Given the description of an element on the screen output the (x, y) to click on. 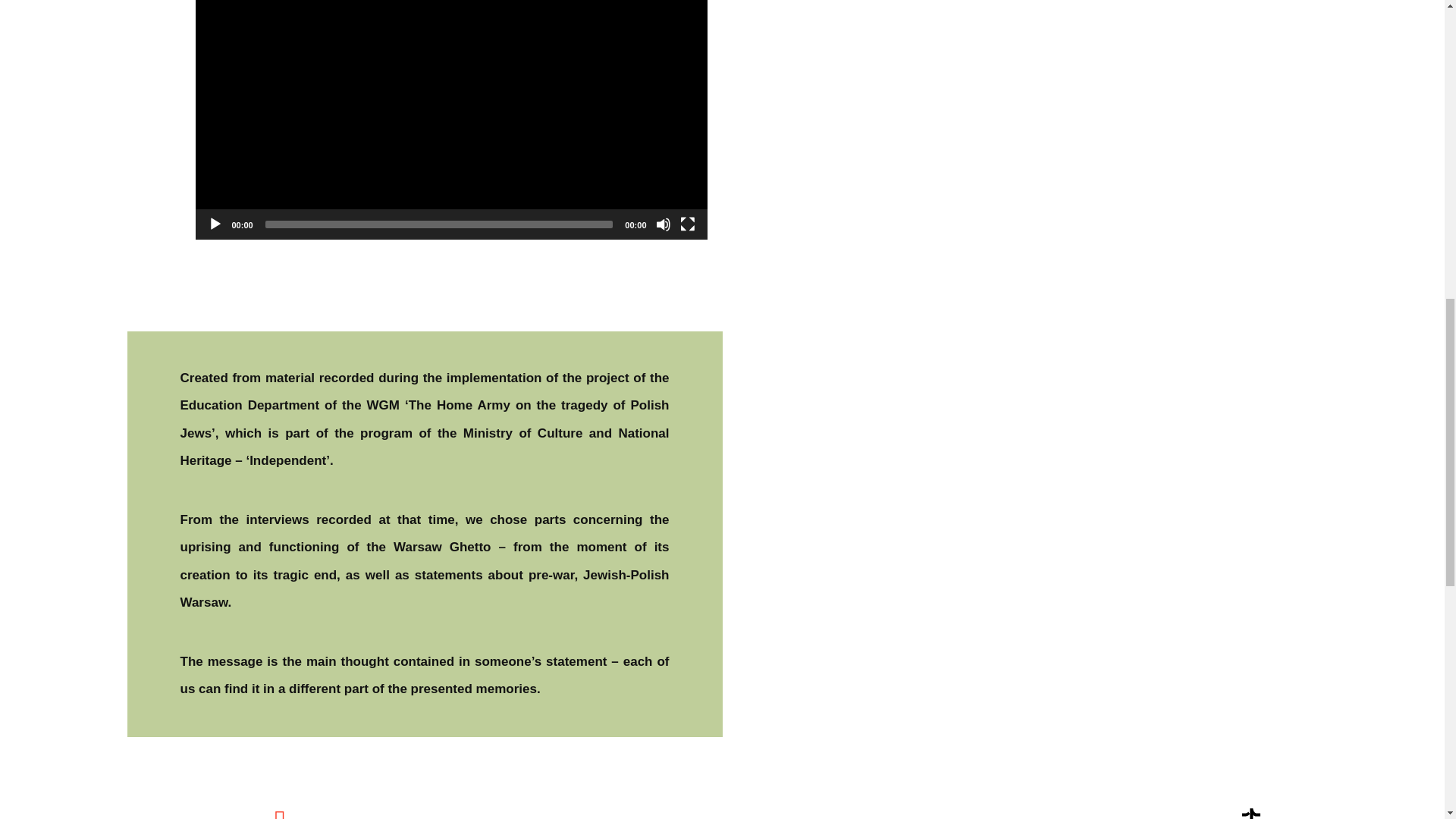
Mute (662, 224)
Play (215, 224)
Fullscreen (686, 224)
